Given the description of an element on the screen output the (x, y) to click on. 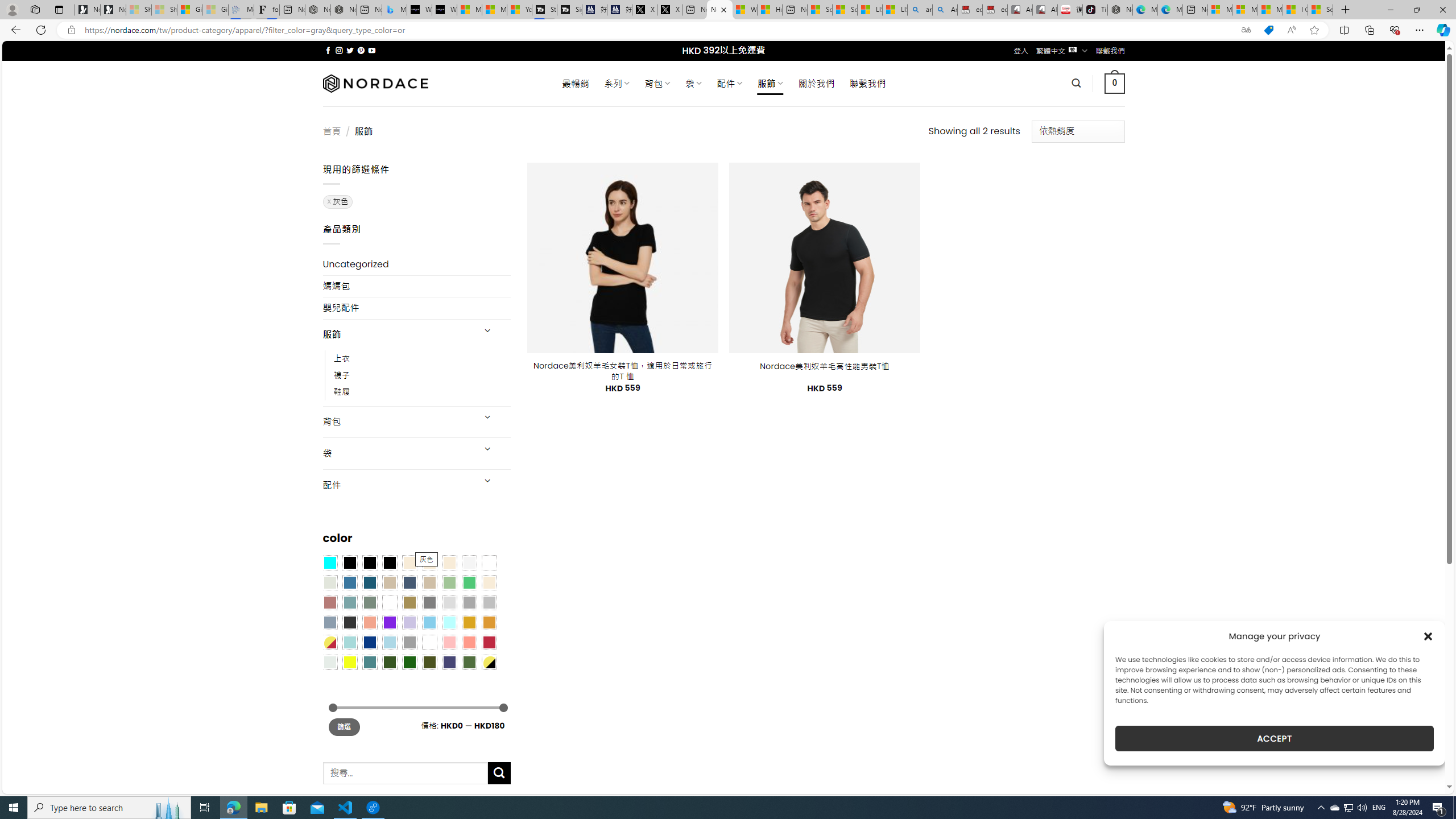
amazon - Search (919, 9)
Huge shark washes ashore at New York City beach | Watch (769, 9)
Follow on Pinterest (360, 50)
All Cubot phones (1044, 9)
